Given the description of an element on the screen output the (x, y) to click on. 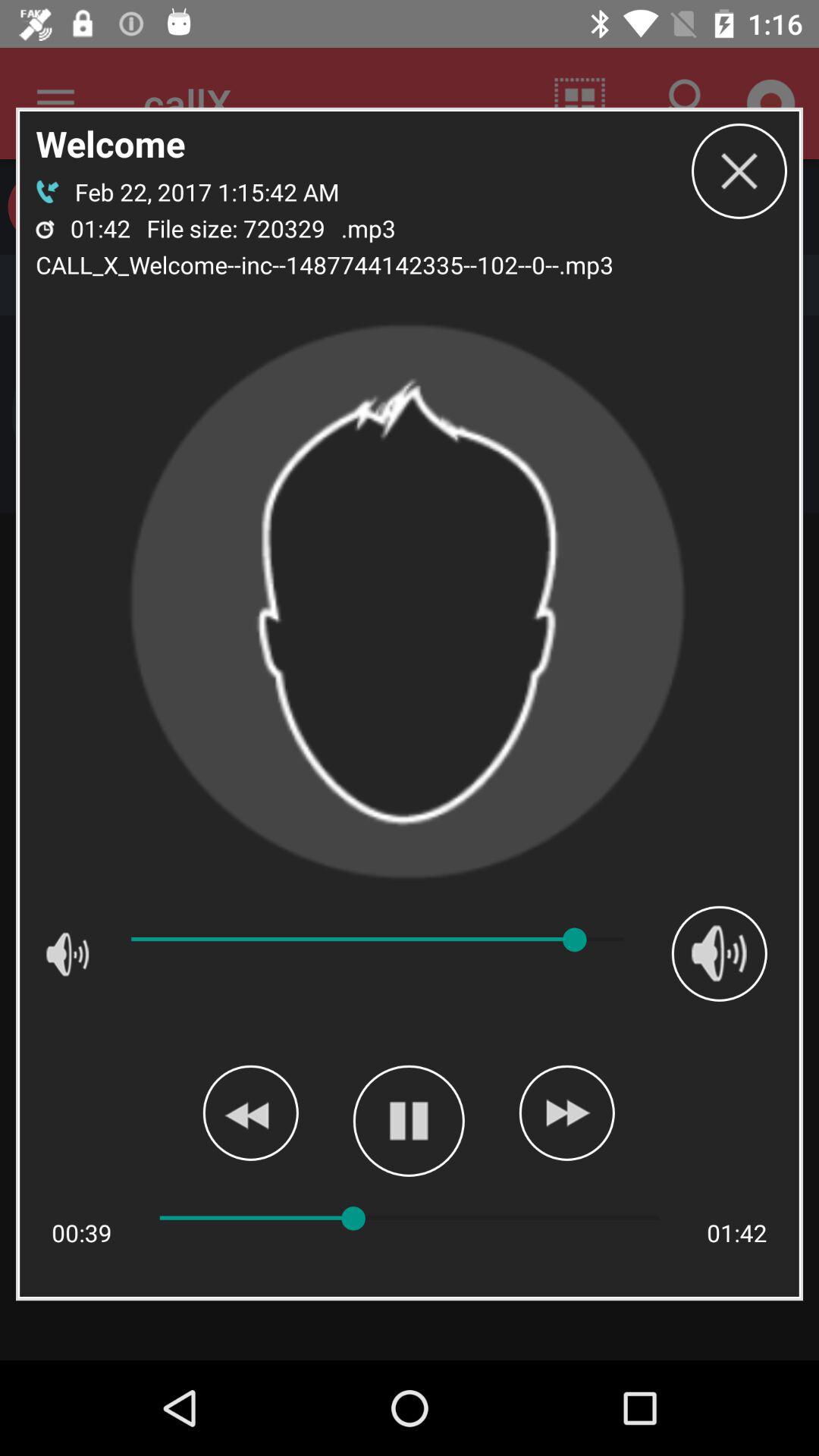
volue button (719, 953)
